Given the description of an element on the screen output the (x, y) to click on. 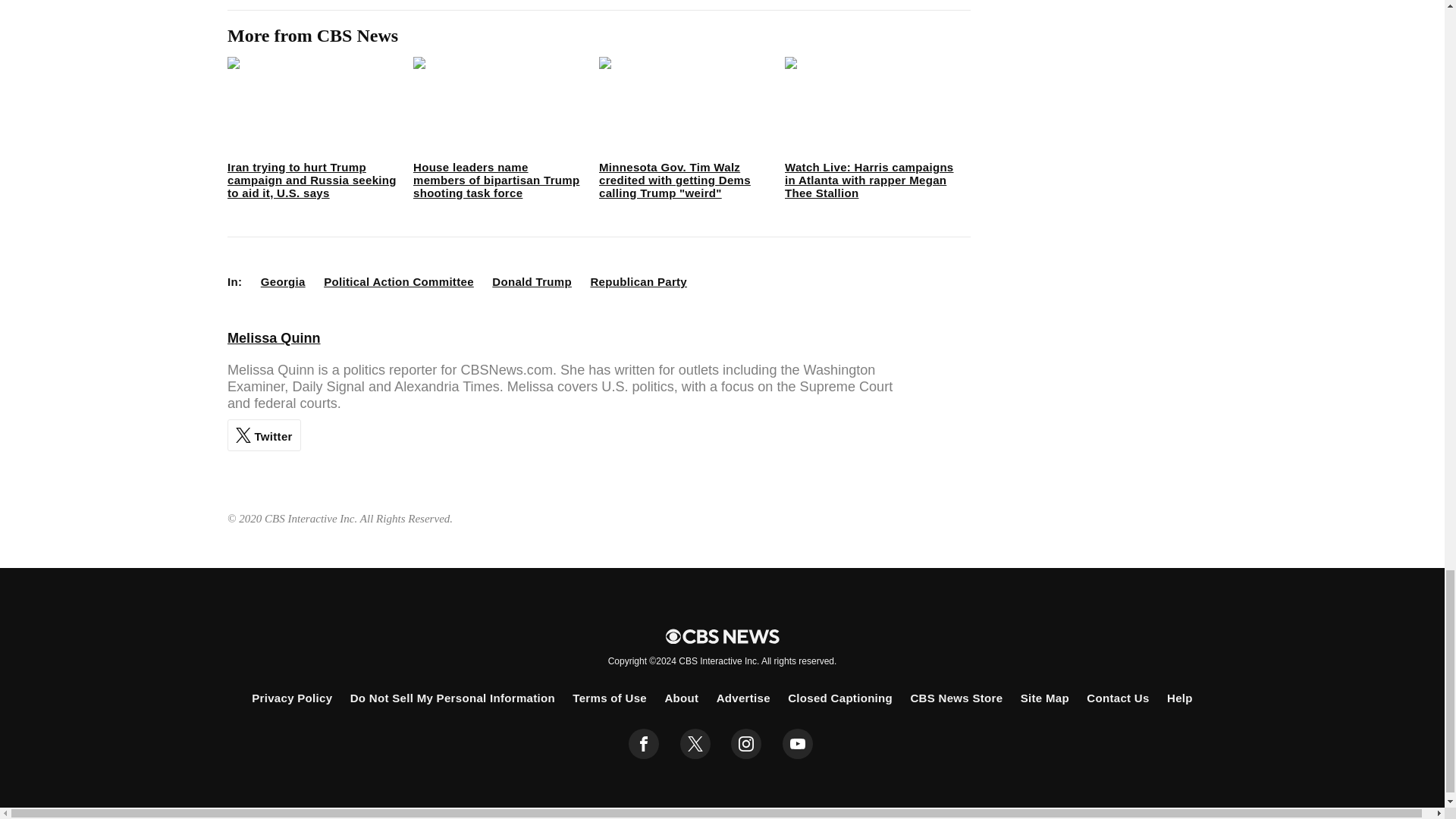
instagram (745, 743)
twitter (694, 743)
facebook (643, 743)
youtube (797, 743)
